Given the description of an element on the screen output the (x, y) to click on. 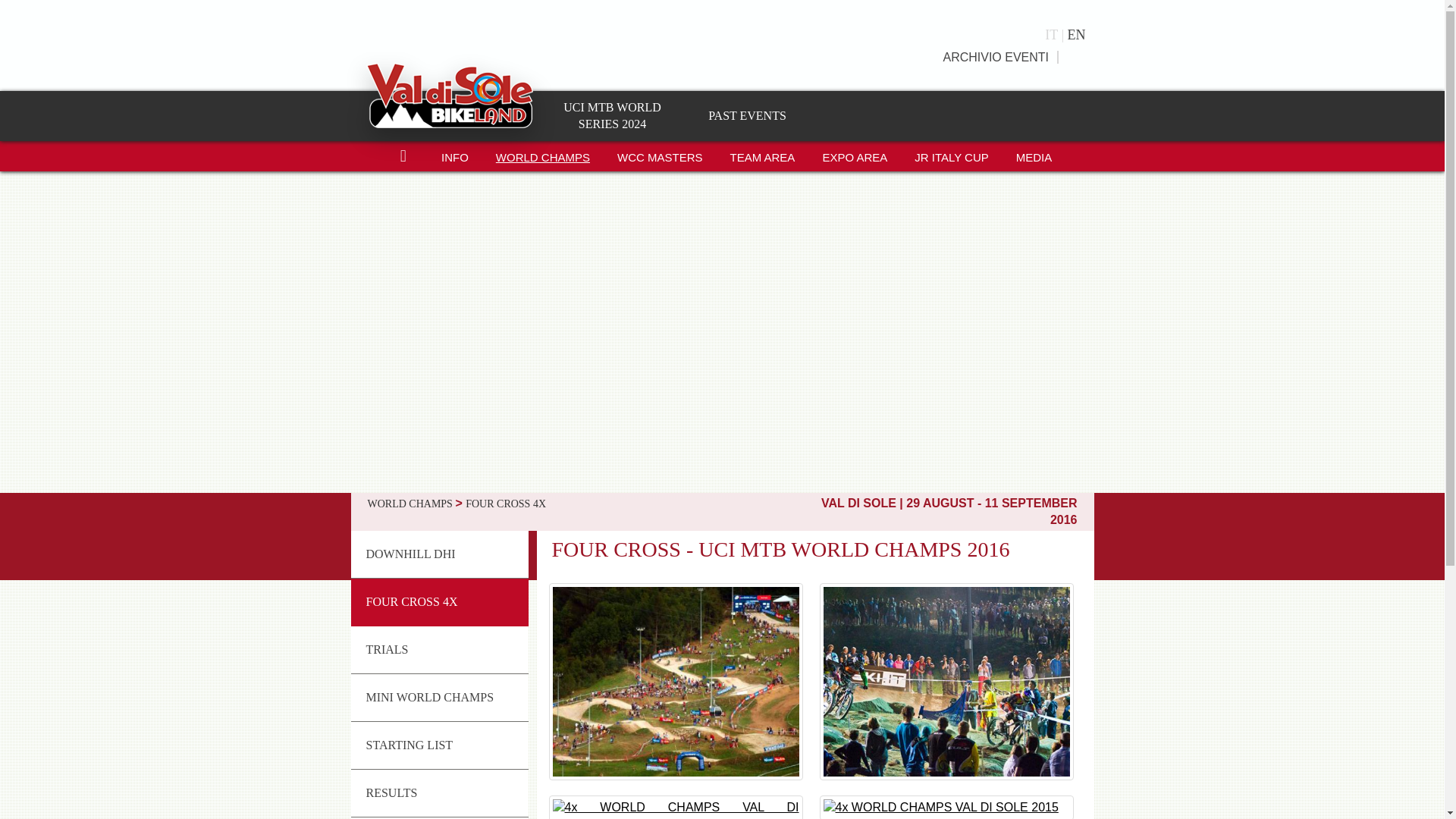
WORLD CHAMPS  (542, 155)
WORLD CHAMPS (542, 155)
INFO (454, 155)
ARCHIVIO EVENTI (996, 56)
IT (1056, 34)
Valdisolebikeland.com (448, 94)
TEAM AREA (762, 155)
WCC MASTERS (660, 155)
INFO (454, 155)
Archivio Eventi (996, 56)
UCI MTB WORLD SERIES 2024 (611, 115)
EN (1075, 34)
PAST EVENTS (746, 115)
